Given the description of an element on the screen output the (x, y) to click on. 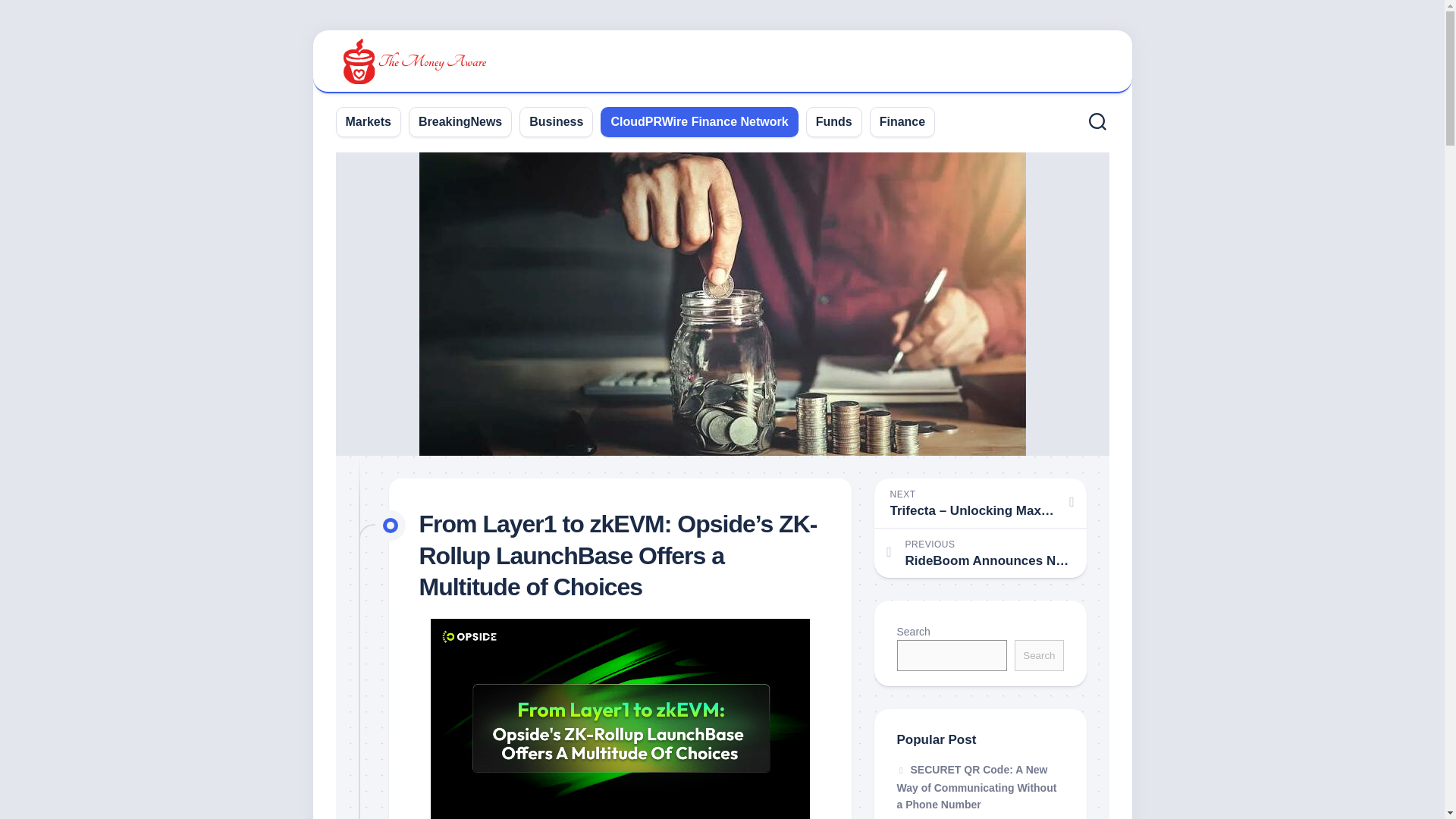
Search (1038, 654)
Business (556, 121)
Markets (368, 121)
CloudPRWire Finance Network (698, 121)
Finance (901, 121)
BreakingNews (460, 121)
Funds (833, 121)
